Given the description of an element on the screen output the (x, y) to click on. 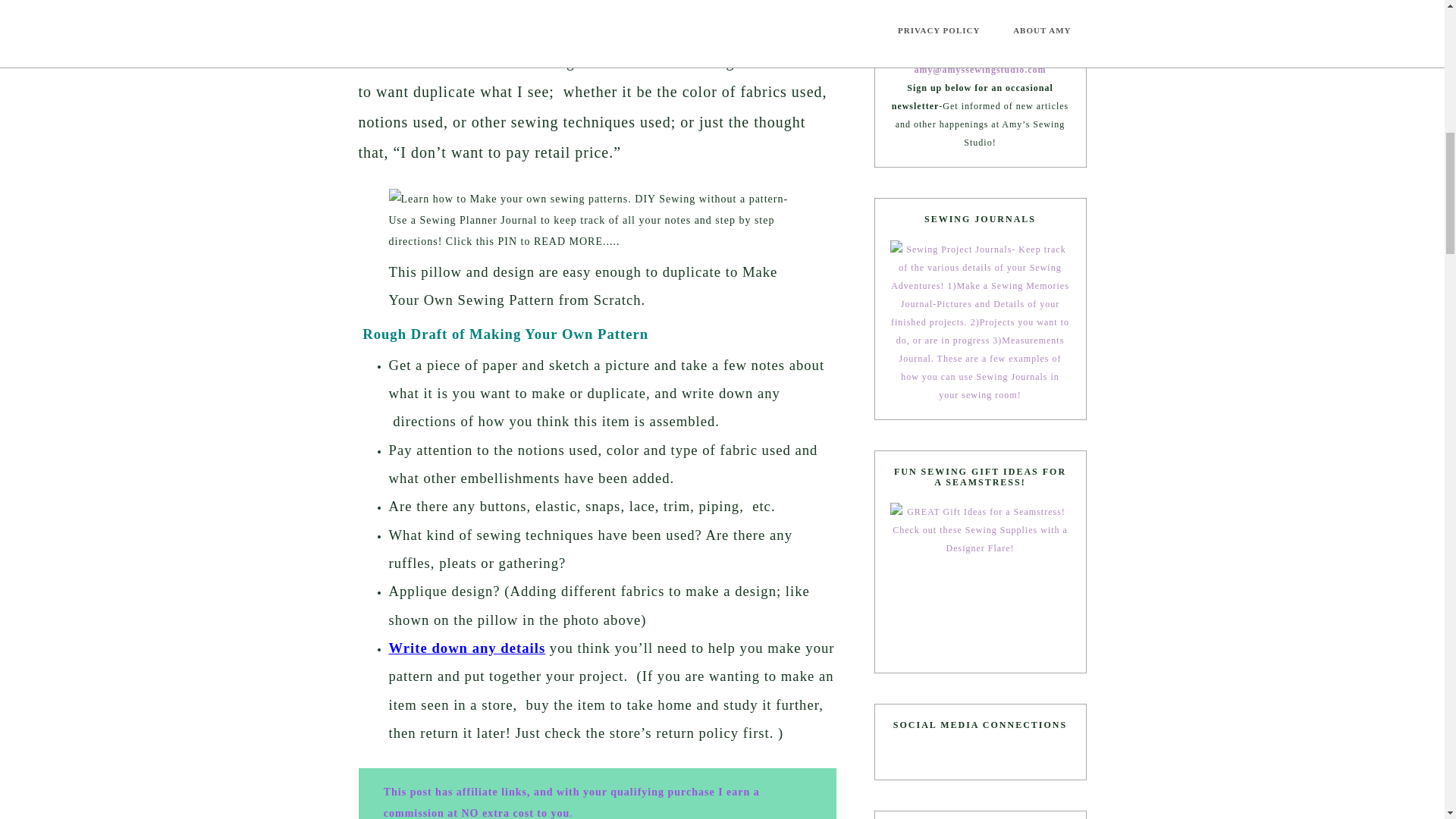
Write down any details (466, 647)
